Given the description of an element on the screen output the (x, y) to click on. 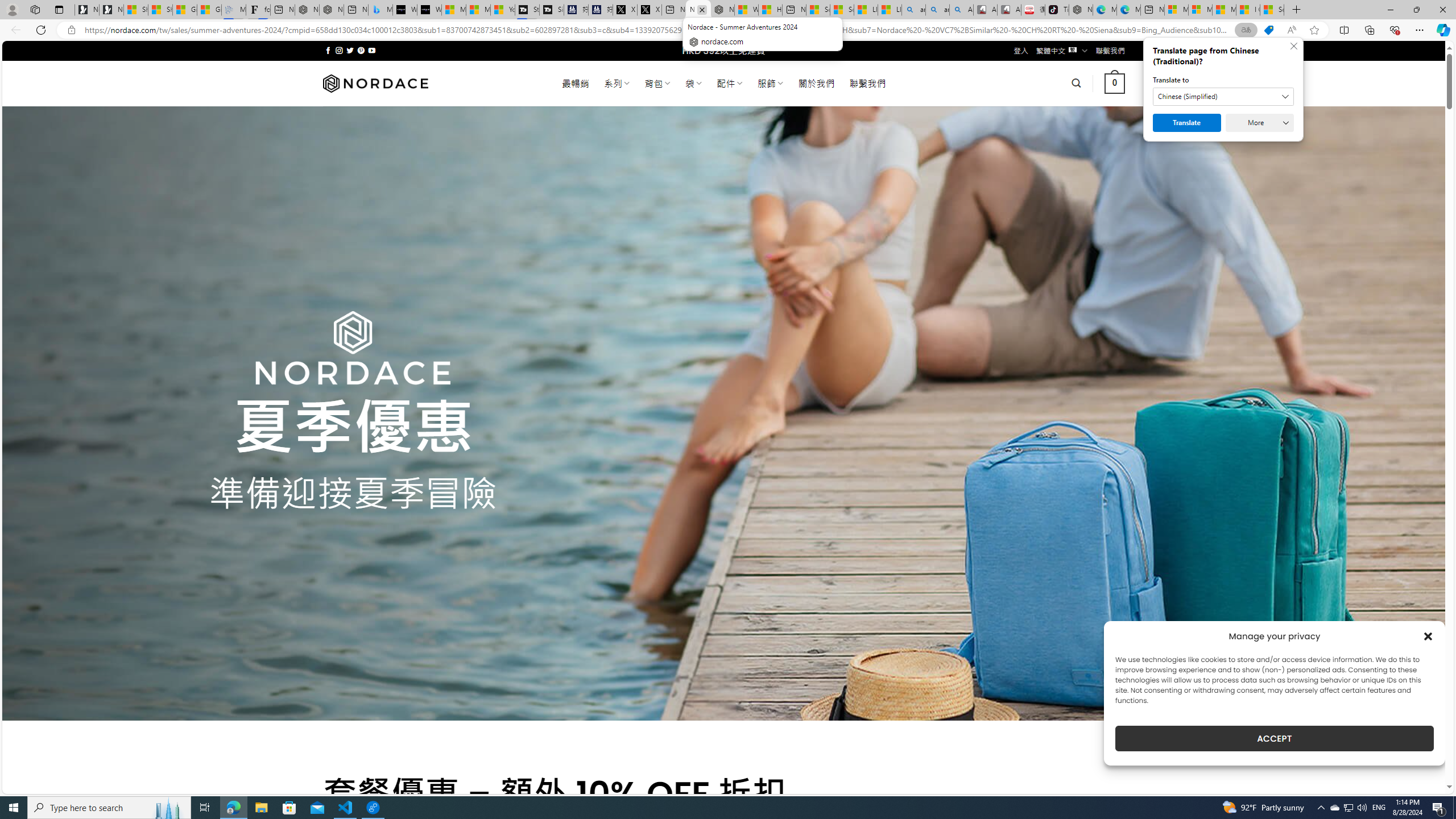
TikTok (1056, 9)
Follow on Twitter (349, 50)
